Given the description of an element on the screen output the (x, y) to click on. 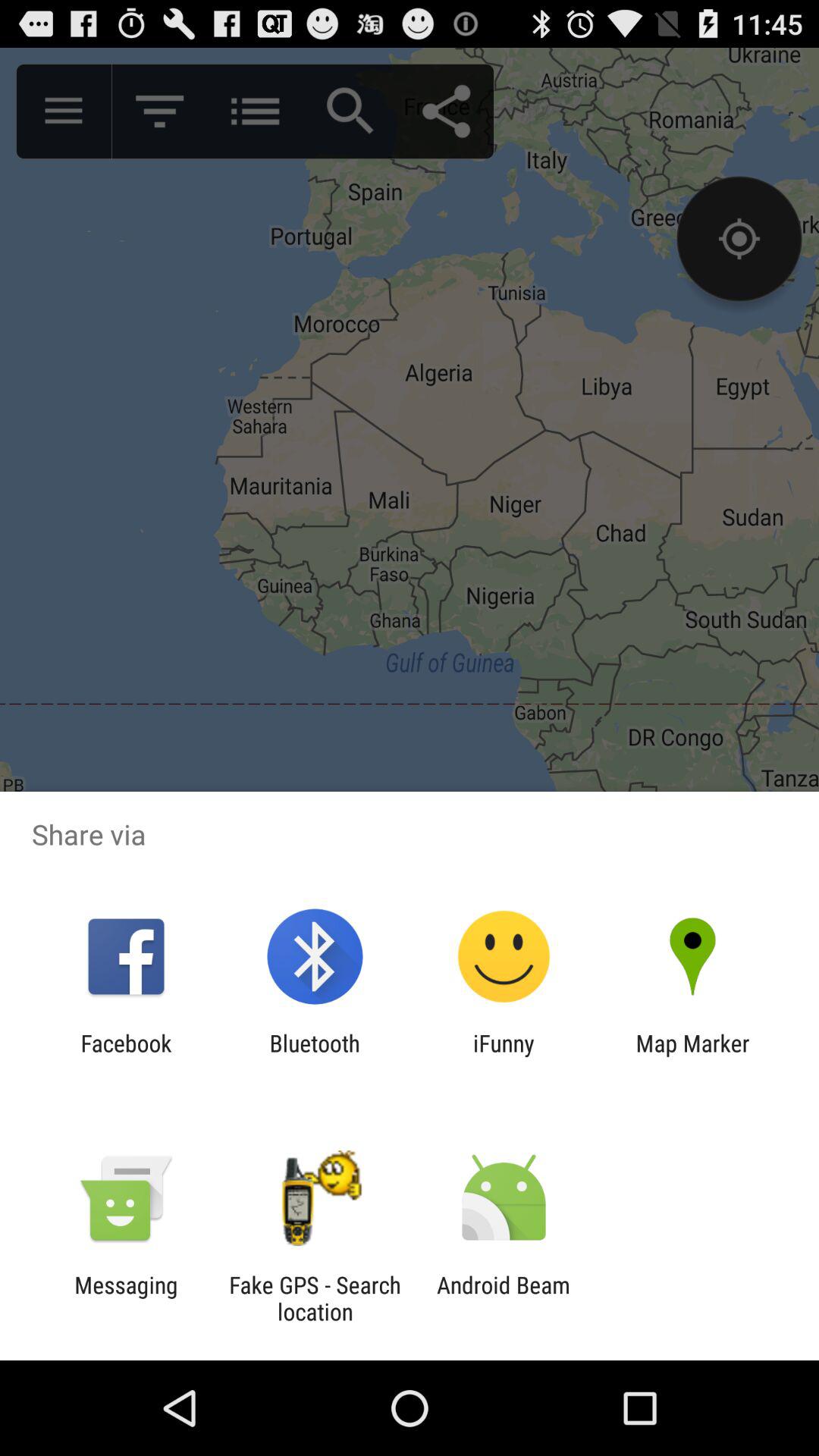
scroll to the fake gps search icon (314, 1298)
